Given the description of an element on the screen output the (x, y) to click on. 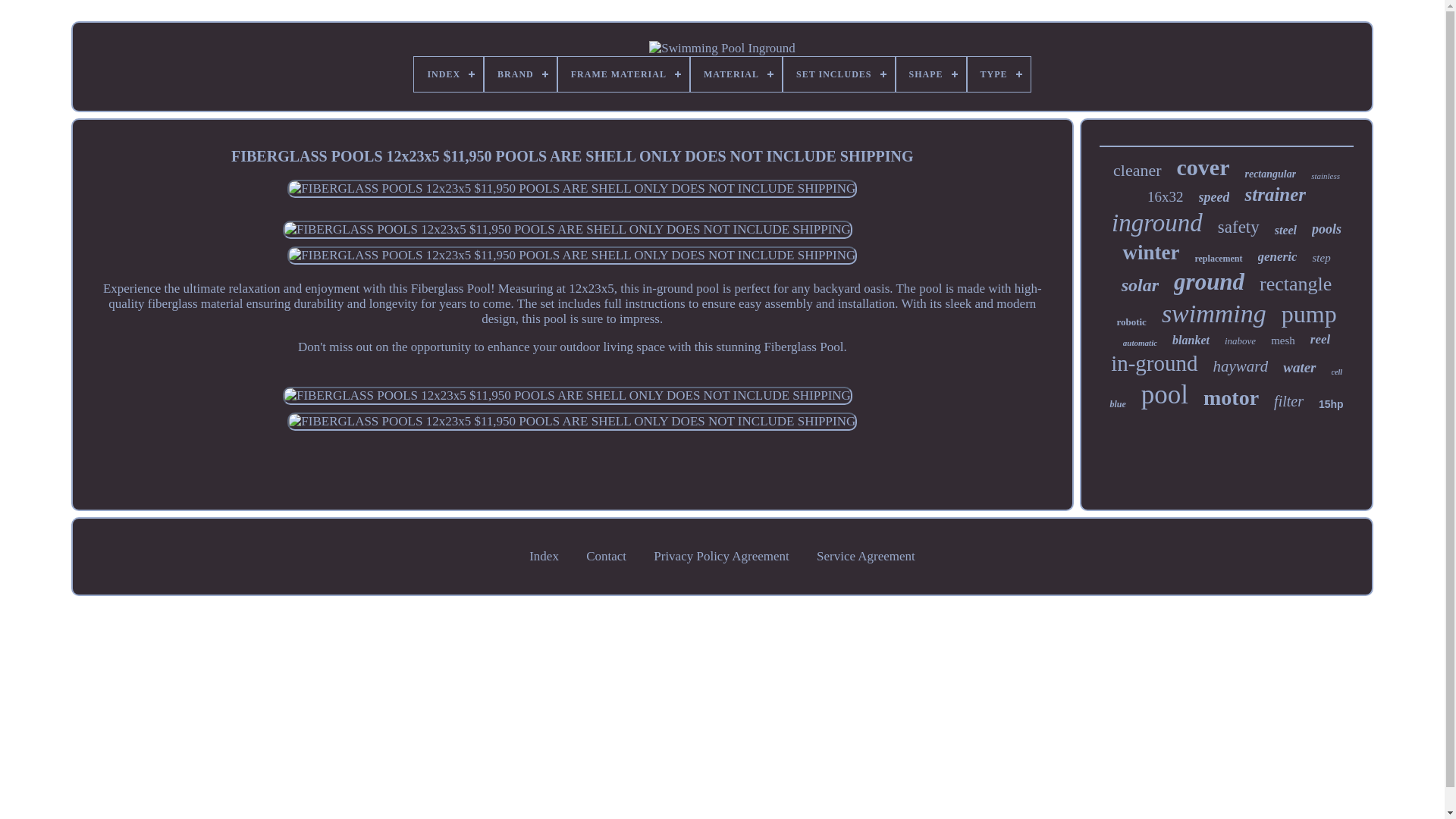
BRAND (520, 73)
FRAME MATERIAL (622, 73)
INDEX (448, 73)
